Given the description of an element on the screen output the (x, y) to click on. 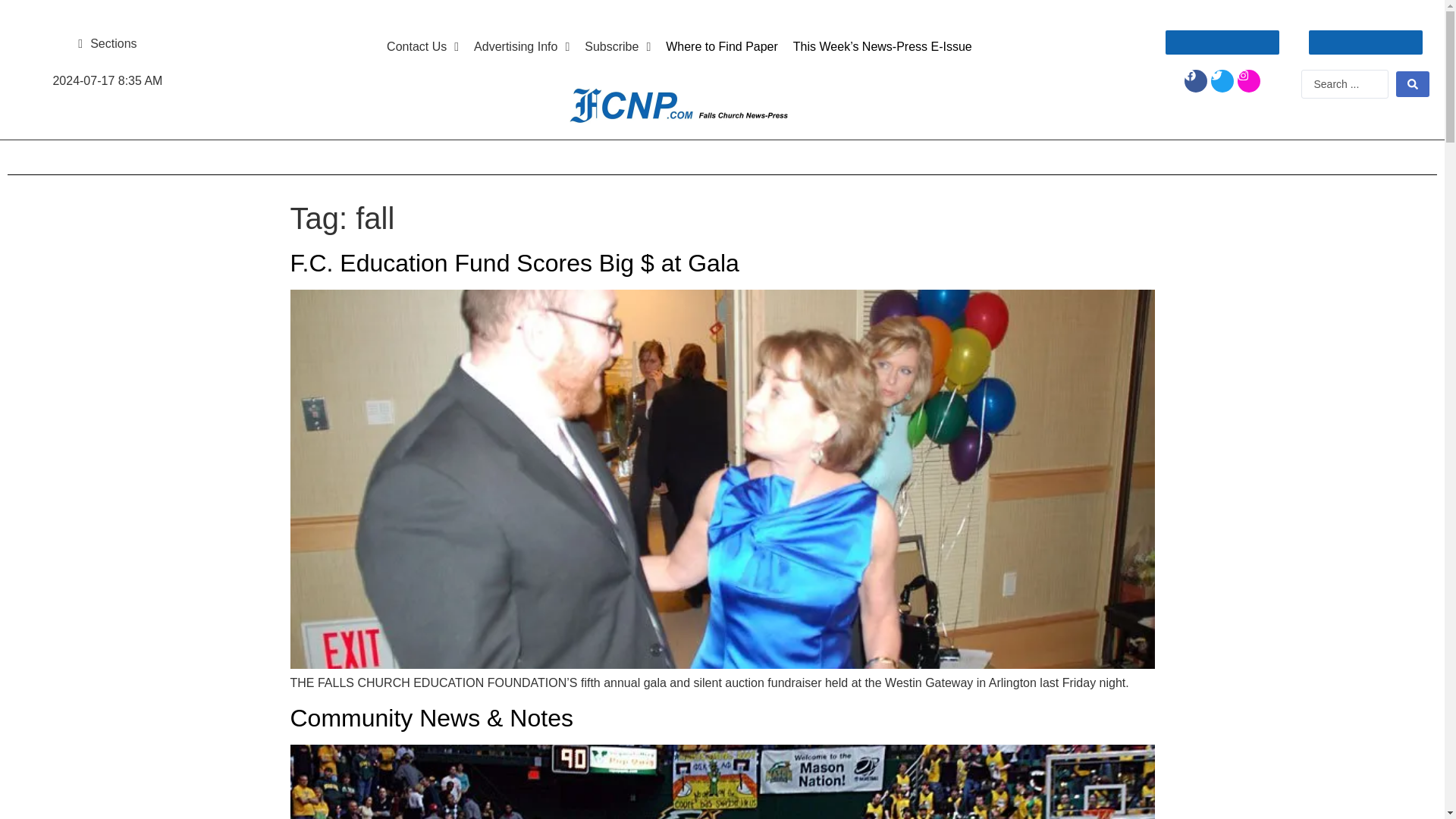
Where to Find Paper (722, 46)
Advertising Info (520, 46)
Contact Us (421, 46)
Subscribe (617, 46)
